Given the description of an element on the screen output the (x, y) to click on. 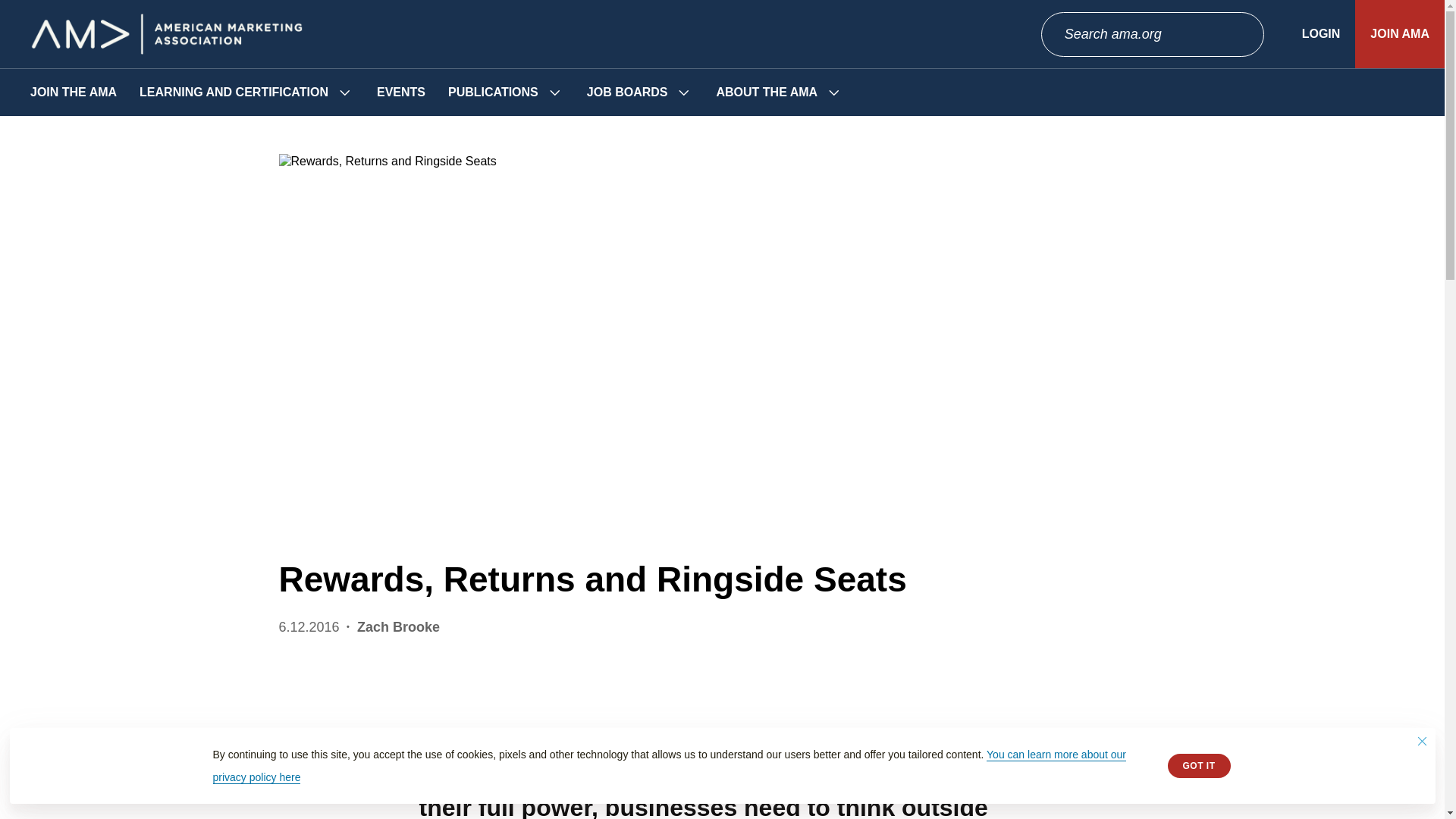
LEARNING AND CERTIFICATION (234, 92)
JOB BOARDS (627, 92)
EVENTS (401, 92)
ABOUT THE AMA (766, 92)
PUBLICATIONS (493, 92)
JOIN THE AMA (73, 92)
LOGIN (1321, 33)
